Given the description of an element on the screen output the (x, y) to click on. 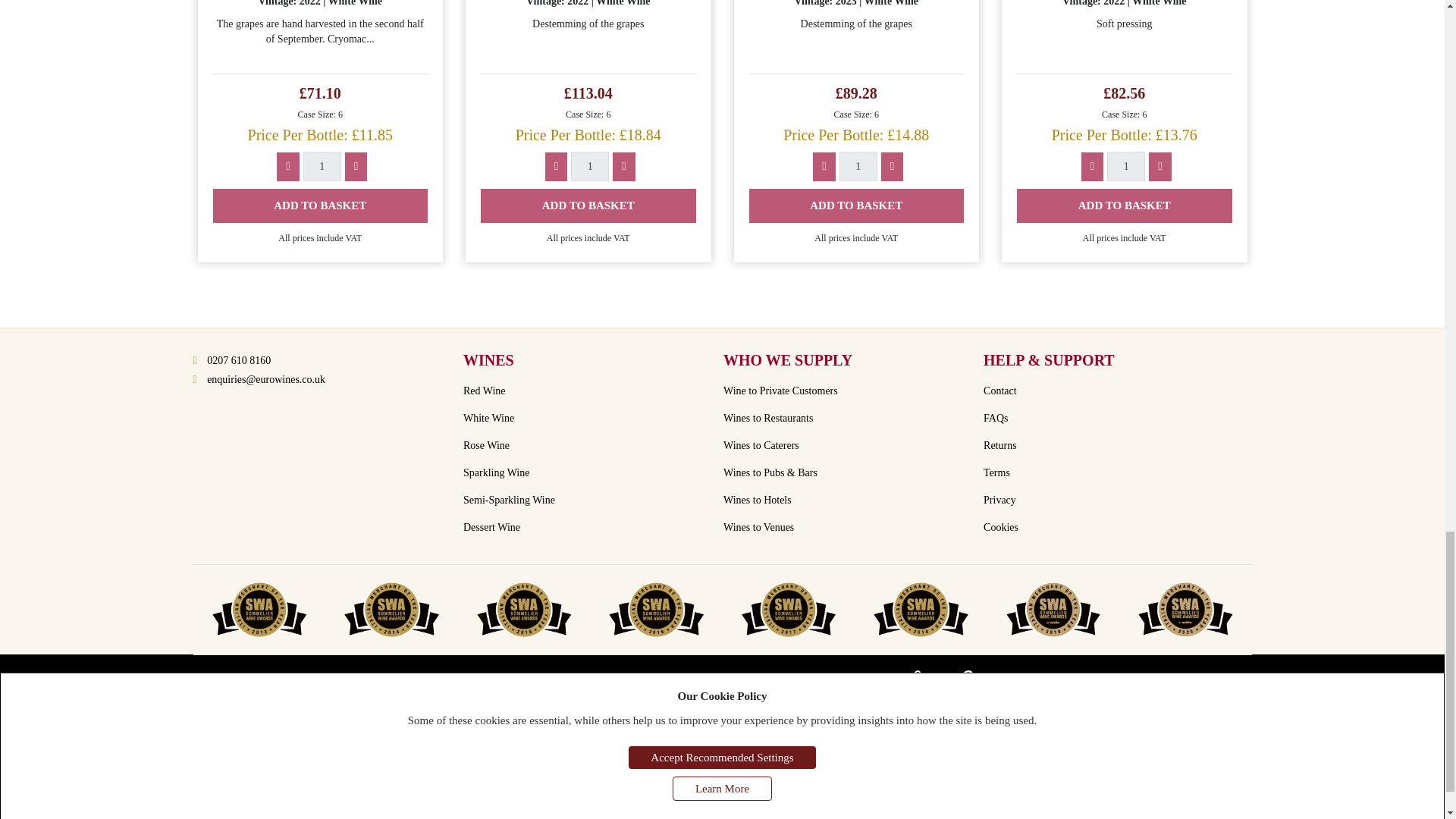
1 (858, 165)
1 (1125, 165)
1 (589, 165)
1 (321, 165)
